Given the description of an element on the screen output the (x, y) to click on. 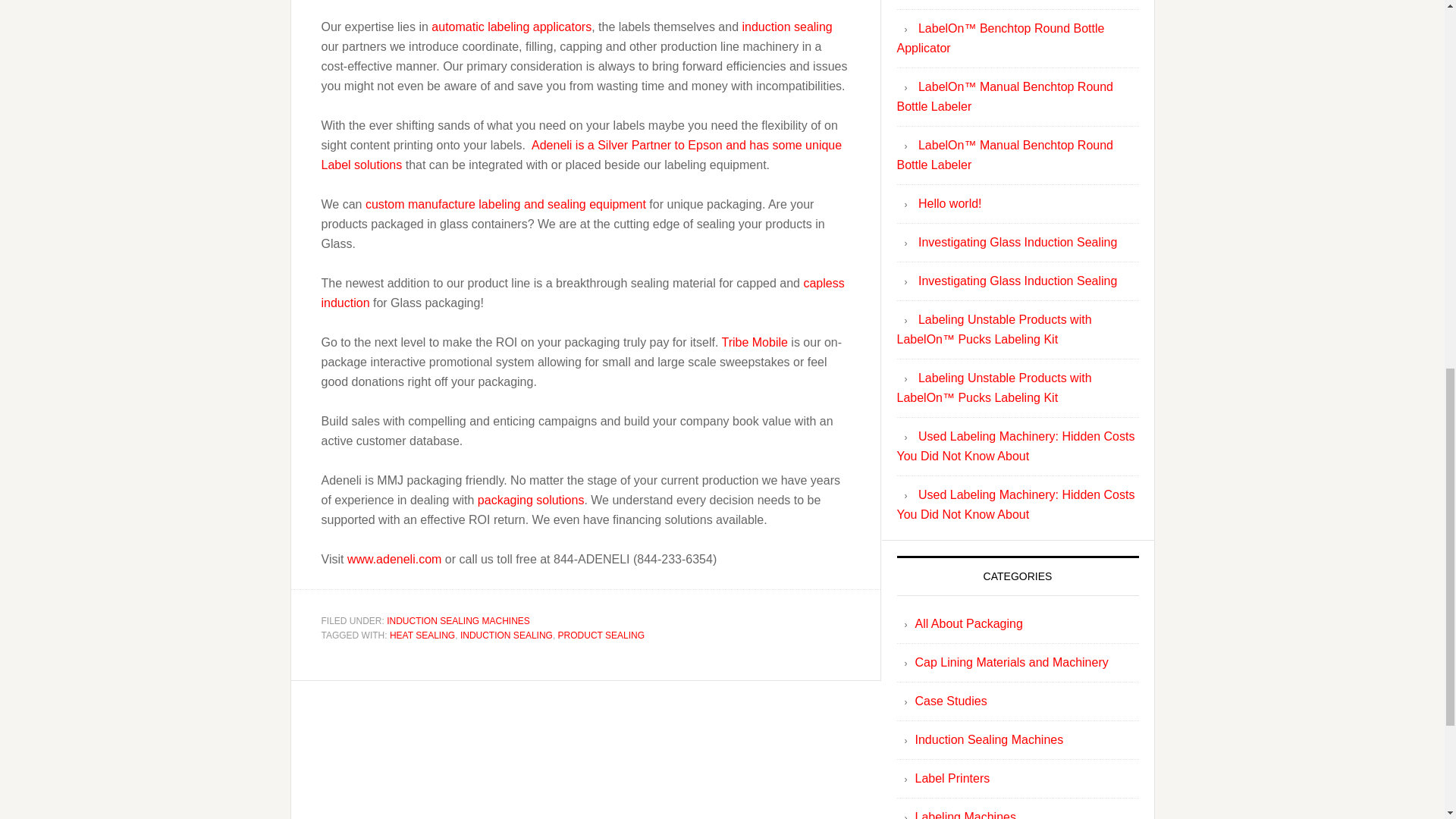
INDUCTION SEALING MACHINES (458, 620)
custom manufacture labeling and sealing equipment (505, 203)
automatic labeling applicators (510, 25)
HEAT SEALING (422, 634)
induction sealing (786, 25)
Hello world! (949, 203)
packaging solutions (531, 499)
Tribe Mobile (753, 341)
www.adeneli.com (394, 558)
